Given the description of an element on the screen output the (x, y) to click on. 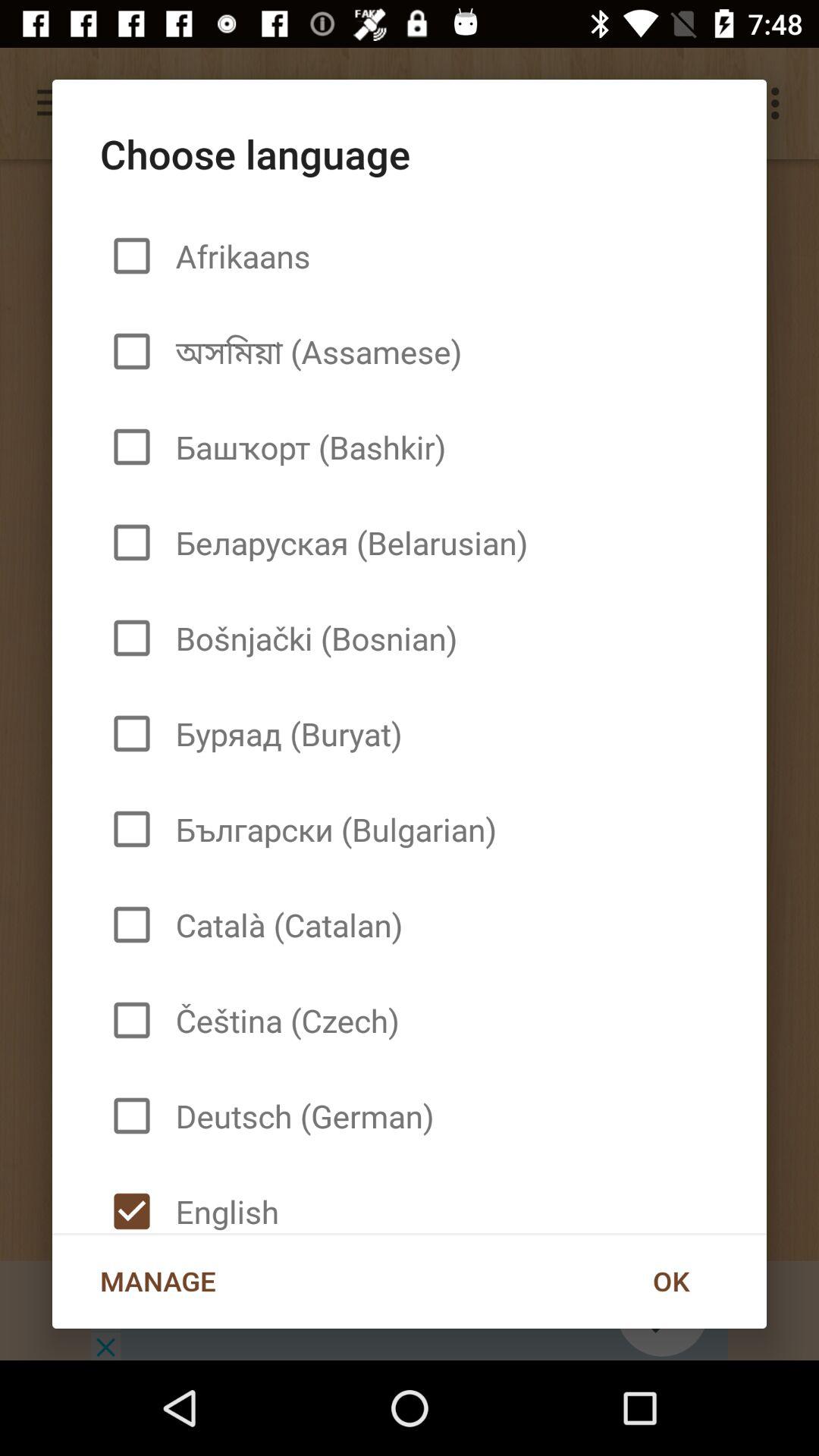
choose icon next to the ok icon (221, 1198)
